Given the description of an element on the screen output the (x, y) to click on. 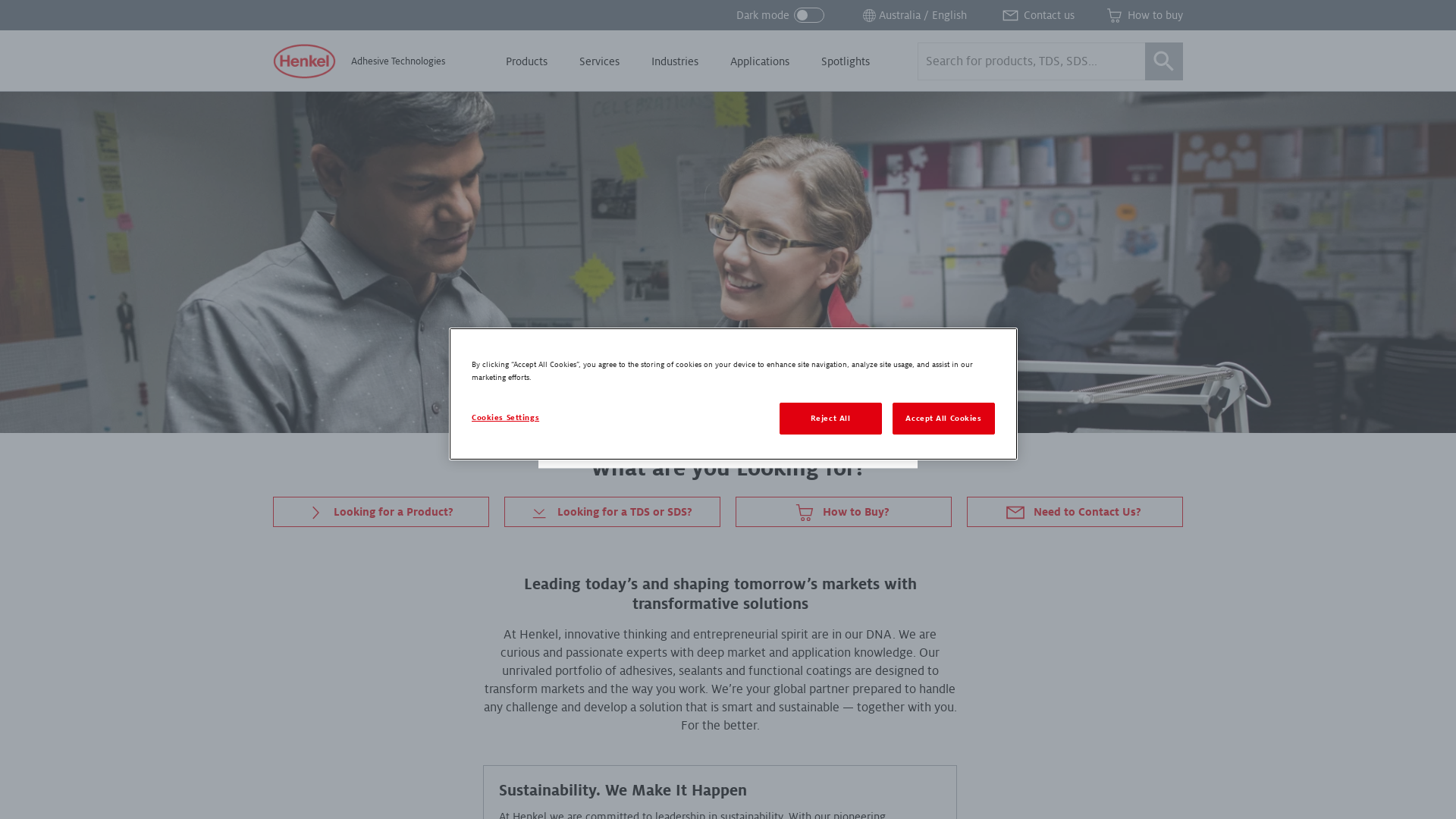
Reject All Element type: text (830, 418)
Search field Element type: hover (1050, 61)
Applications Element type: text (759, 61)
Cookies Settings Element type: text (522, 417)
Go to Chinese Mainland, English Element type: text (656, 426)
How to buy Element type: text (1143, 15)
How to Buy? Element type: text (843, 511)
Looking for a TDS or SDS? Element type: text (612, 511)
Dark mode Element type: text (780, 15)
Looking for a Product? Element type: text (381, 511)
Accept All Cookies Element type: text (943, 418)
Adhesive Technologies Element type: text (359, 60)
Stay on Australia Element type: text (834, 426)
Industries Element type: text (674, 61)
Australia / English Element type: text (913, 15)
Contact us Element type: text (1037, 15)
Need to Contact Us? Element type: text (1074, 511)
Products Element type: text (526, 61)
Spotlights Element type: text (845, 61)
Services Element type: text (599, 61)
